Given the description of an element on the screen output the (x, y) to click on. 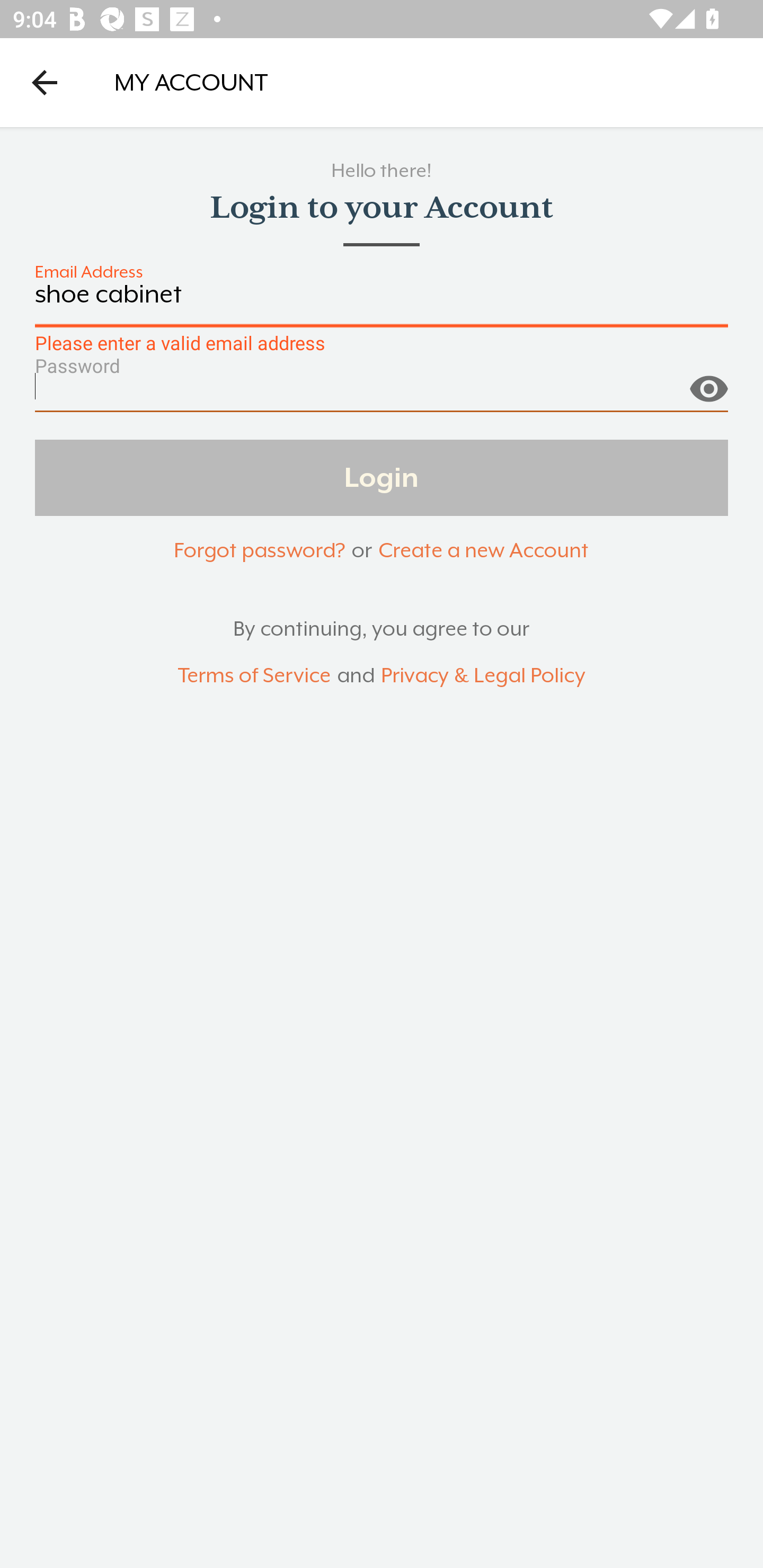
Navigate up (44, 82)
shoe cabinet (381, 304)
 (708, 381)
Password (381, 393)
Login (381, 477)
Forgot password? (259, 550)
Create a new Account (483, 550)
Terms of Service (253, 675)
Privacy & Legal Policy (483, 675)
